Given the description of an element on the screen output the (x, y) to click on. 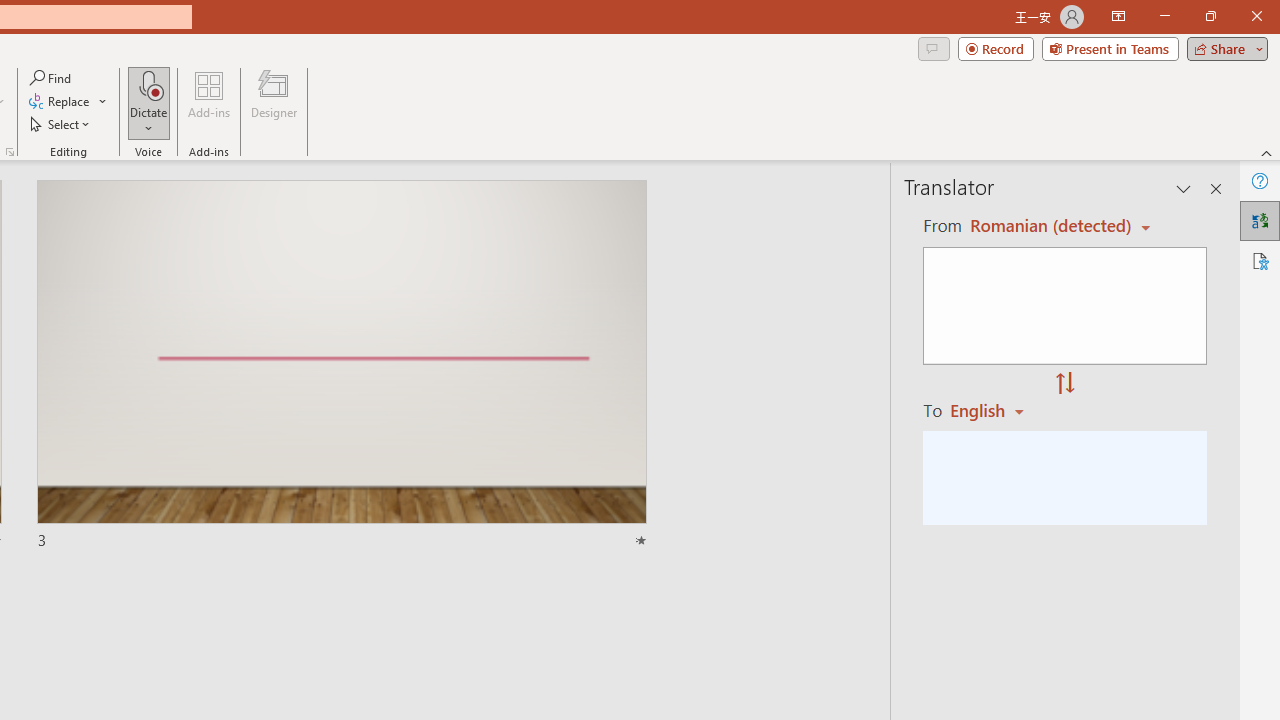
Swap "from" and "to" languages. (1065, 383)
